Given the description of an element on the screen output the (x, y) to click on. 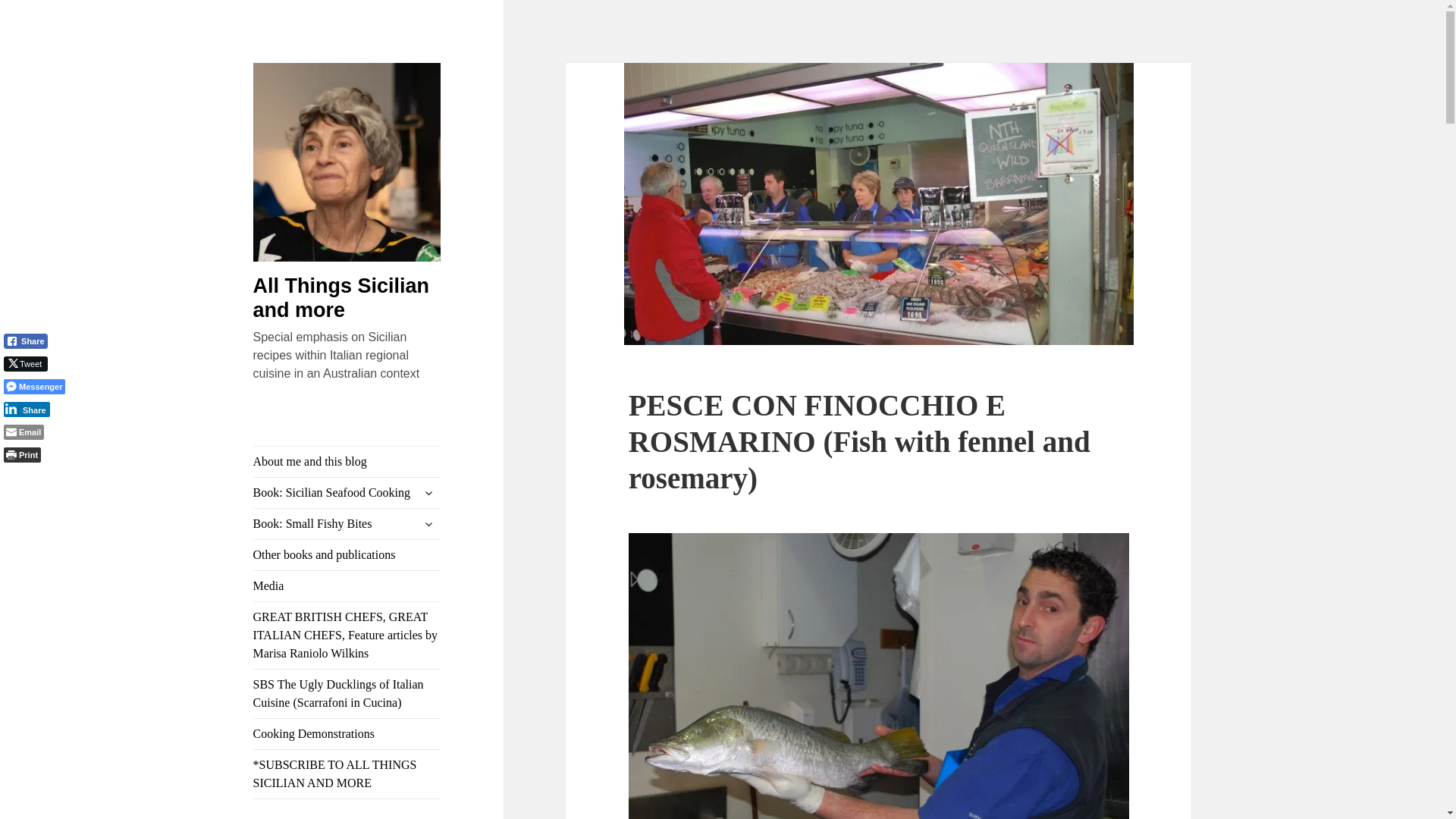
Book: Sicilian Seafood Cooking (347, 492)
Book: Small Fishy Bites (347, 523)
Other books and publications (347, 554)
All Things Sicilian and more (341, 297)
expand child menu (428, 523)
Cooking Demonstrations (347, 734)
Media (347, 585)
About me and this blog (347, 461)
expand child menu (428, 492)
